Given the description of an element on the screen output the (x, y) to click on. 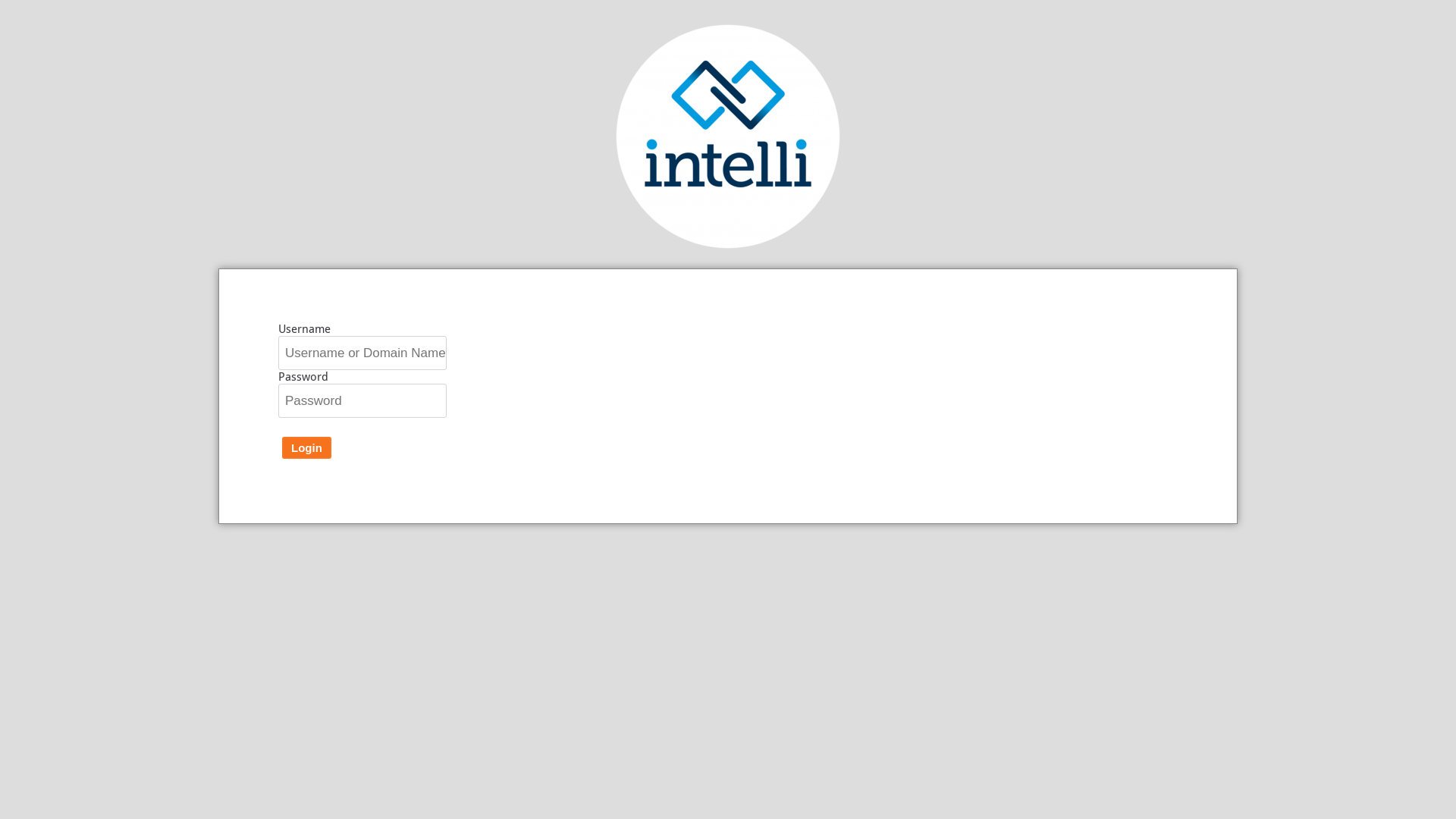
Login Element type: text (306, 447)
